Given the description of an element on the screen output the (x, y) to click on. 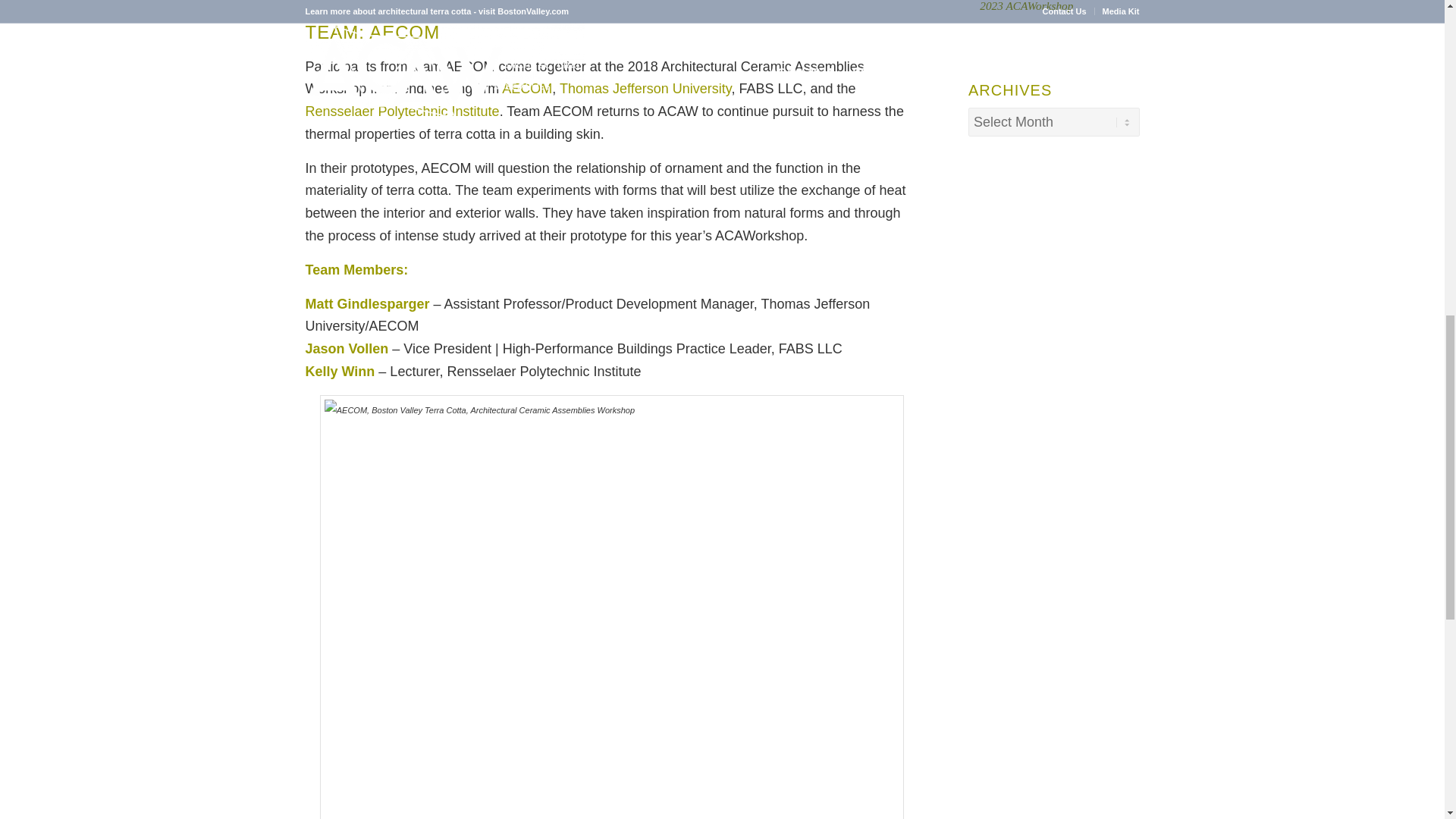
Thomas Jefferson University (643, 88)
Rensselaer Polytechnic Institute (401, 111)
Architectural Record Covers the 2023 ACAWorkshop (1054, 6)
AECOM (526, 88)
